Given the description of an element on the screen output the (x, y) to click on. 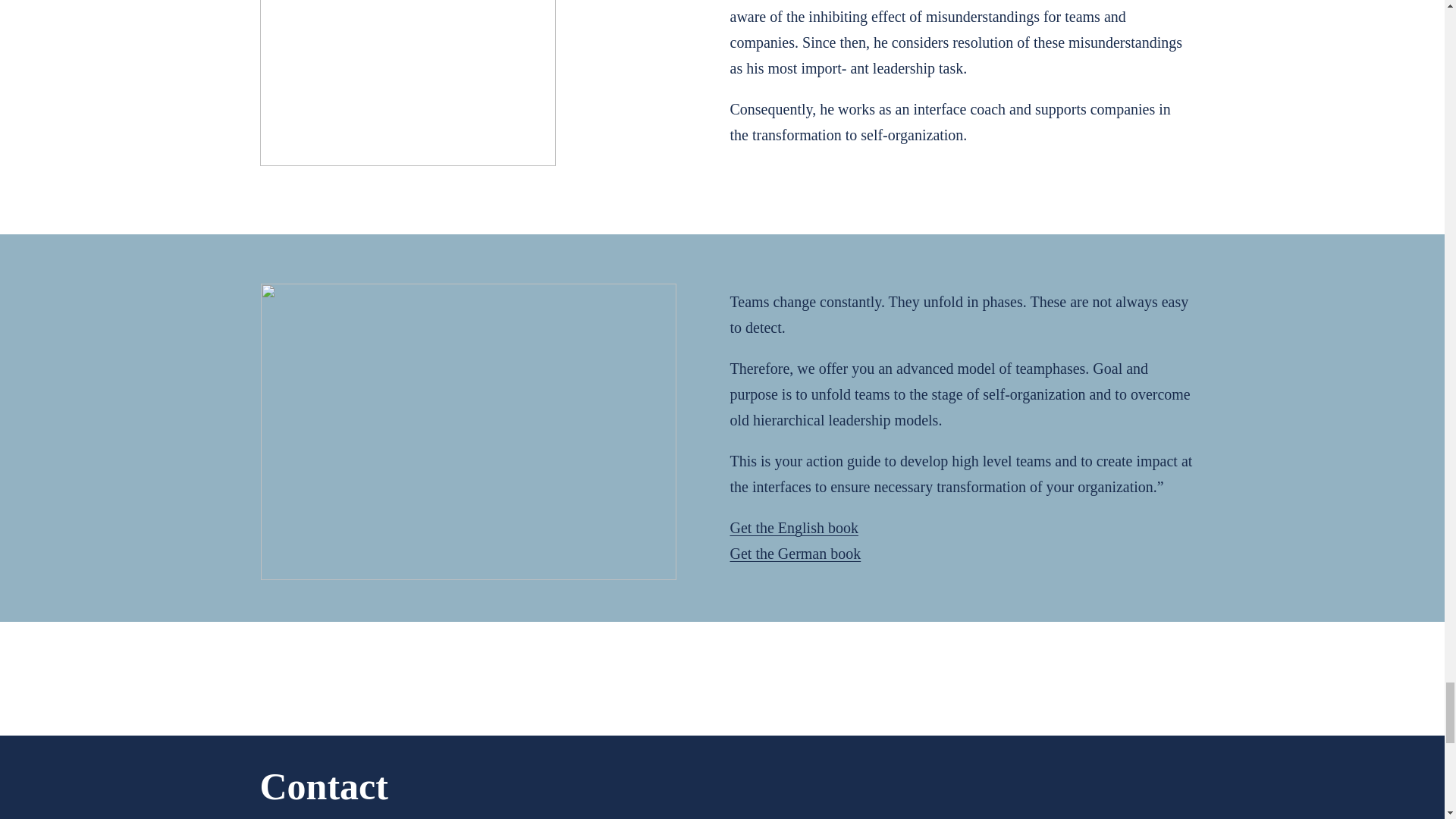
Get the German book (794, 553)
Download Programm (1307, 799)
Get the English book (793, 527)
